Given the description of an element on the screen output the (x, y) to click on. 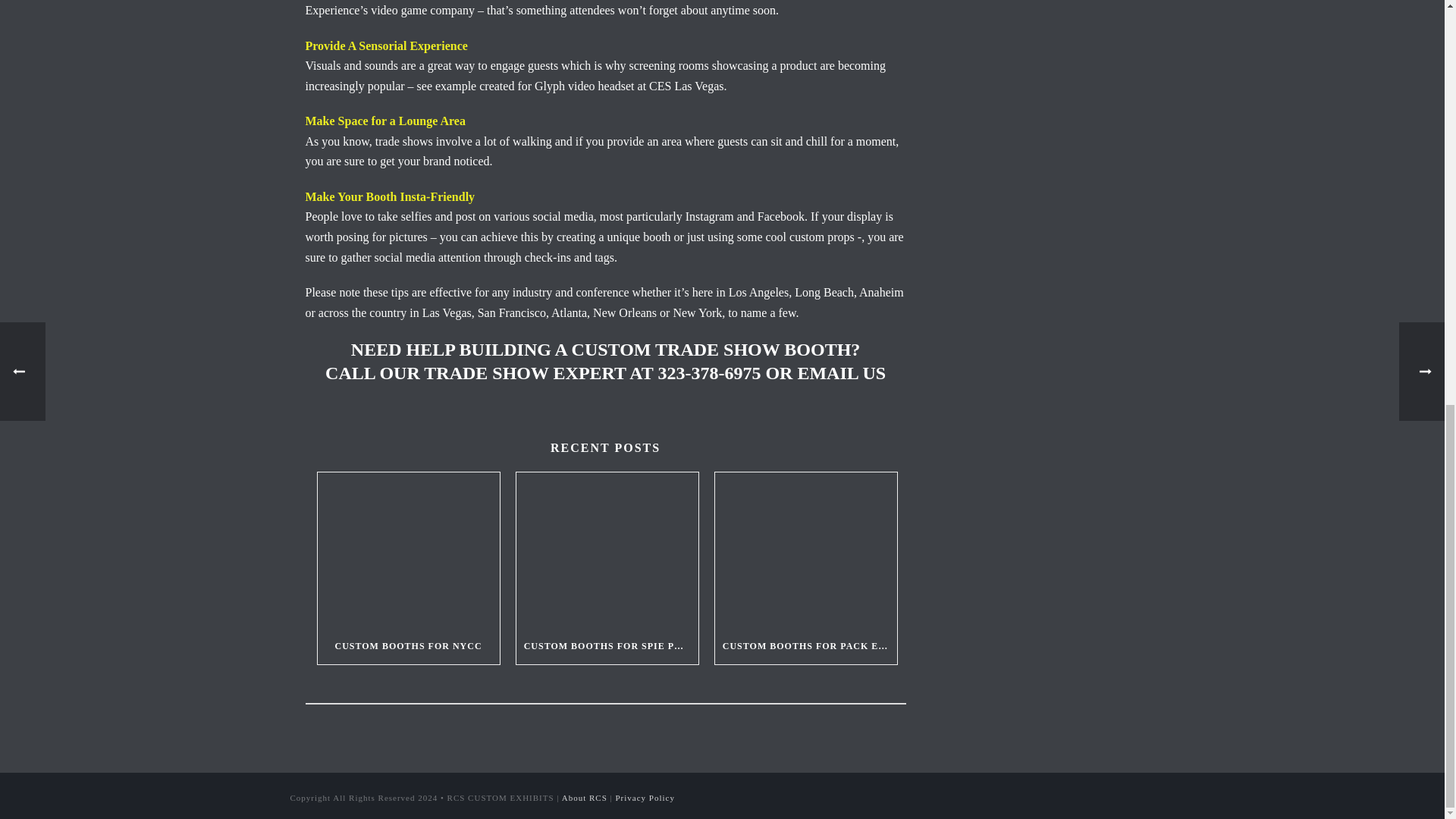
Custom Booths for Pack Expo (805, 550)
example created for Glyph video (515, 85)
CUSTOM BOOTHS FOR SPIE PHOTONICS WEST BIOS (607, 646)
CES Las Vegas (686, 85)
CUSTOM BOOTHS FOR NYCC (408, 646)
using some cool custom props (780, 236)
Anaheim (881, 291)
Custom Booths for SPIE Photonics West BiOS (607, 550)
San Francisco (511, 312)
Custom Booths for NYCC (408, 550)
